Given the description of an element on the screen output the (x, y) to click on. 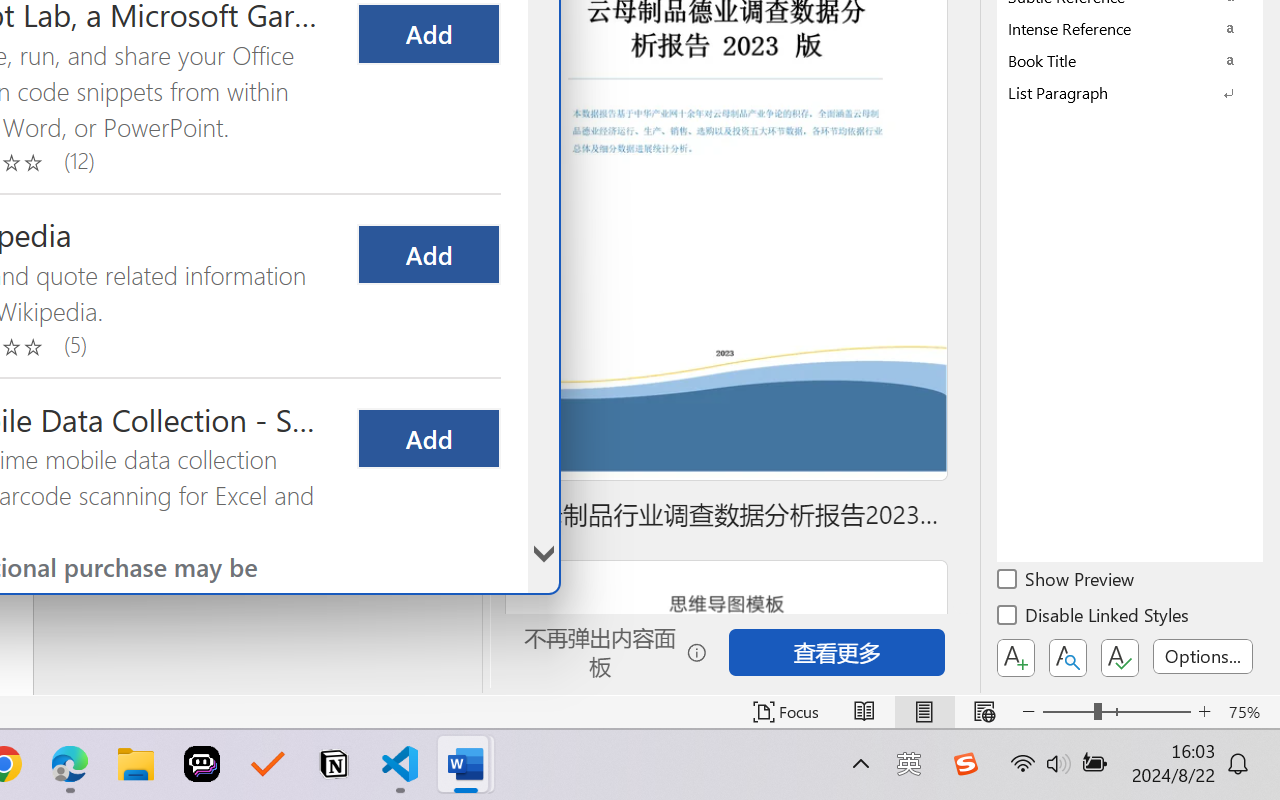
Class: Image (965, 764)
Add Wikipedia (428, 254)
Zoom Out (1067, 712)
Disable Linked Styles (1094, 618)
Poe (201, 764)
Intense Reference (1130, 28)
Read Mode (864, 712)
Notion (333, 764)
